Given the description of an element on the screen output the (x, y) to click on. 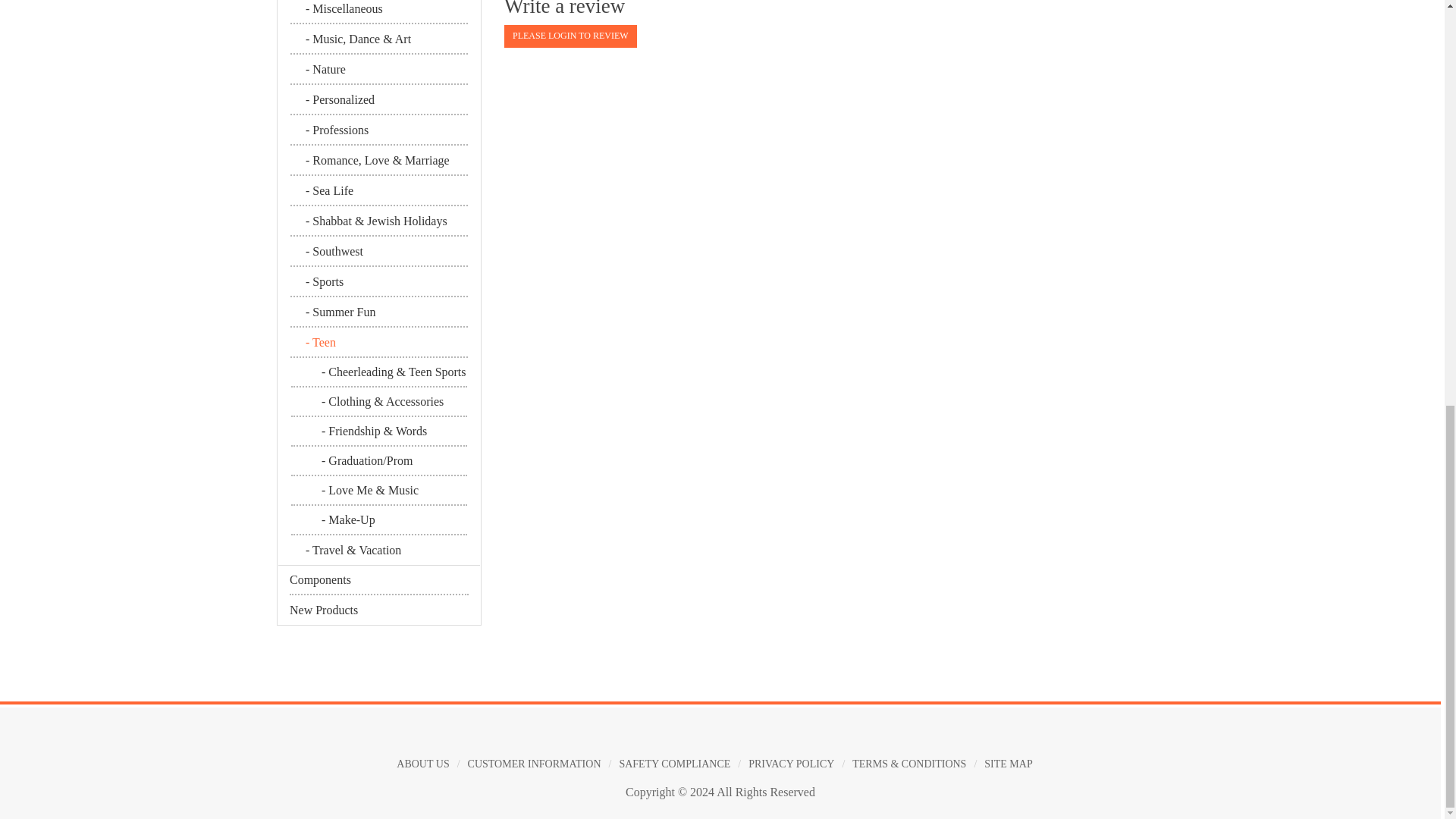
- Sea Life (378, 191)
- Miscellaneous (378, 12)
- Personalized (378, 100)
- Professions (378, 131)
- Nature (378, 70)
